Given the description of an element on the screen output the (x, y) to click on. 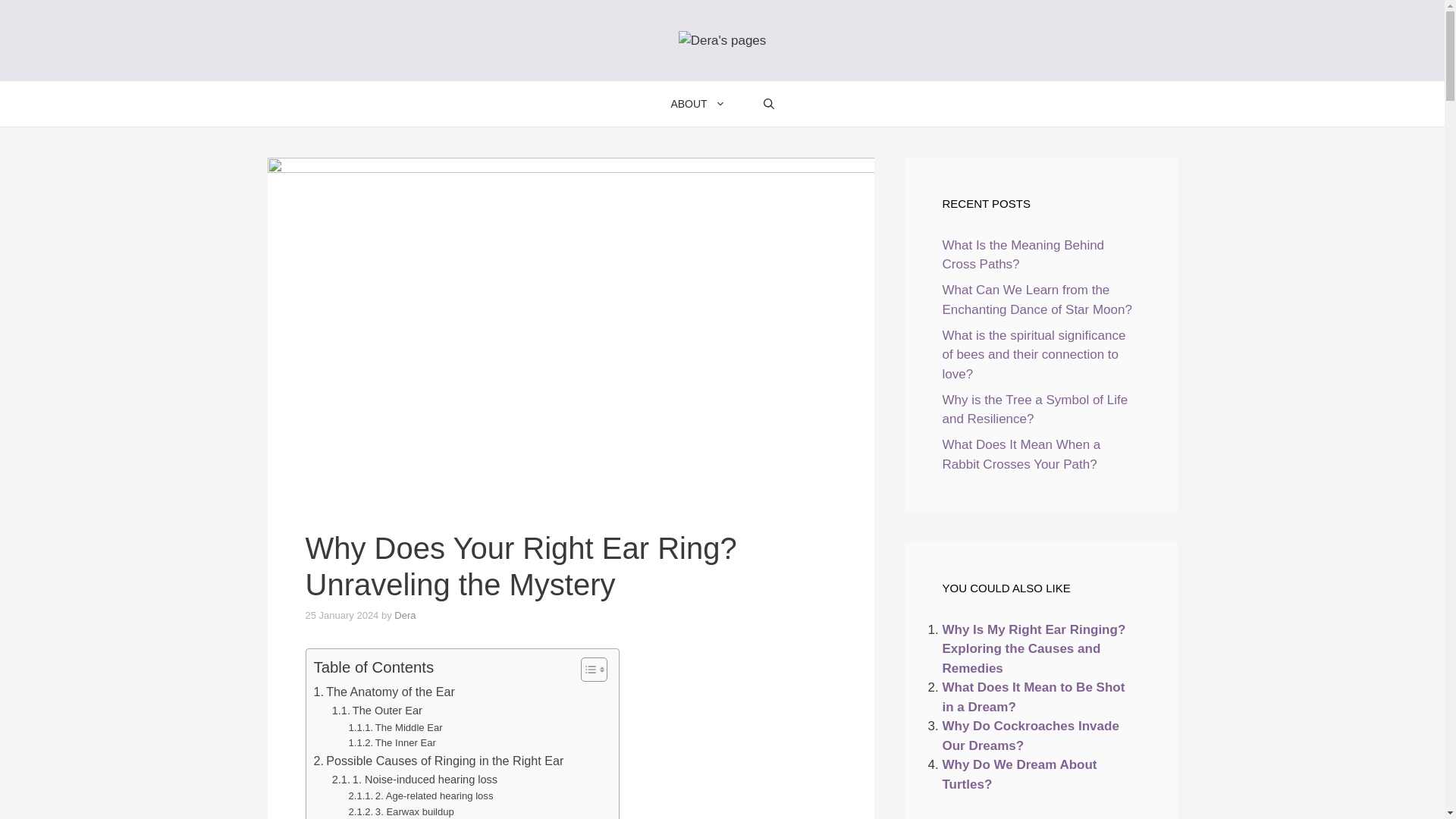
The Inner Ear (392, 743)
Dera (404, 614)
Possible Causes of Ringing in the Right Ear (439, 761)
The Inner Ear (392, 743)
1. Noise-induced hearing loss (414, 779)
The Outer Ear (376, 710)
1. Noise-induced hearing loss (414, 779)
3. Earwax buildup (401, 811)
2. Age-related hearing loss (421, 796)
Possible Causes of Ringing in the Right Ear (439, 761)
